Given the description of an element on the screen output the (x, y) to click on. 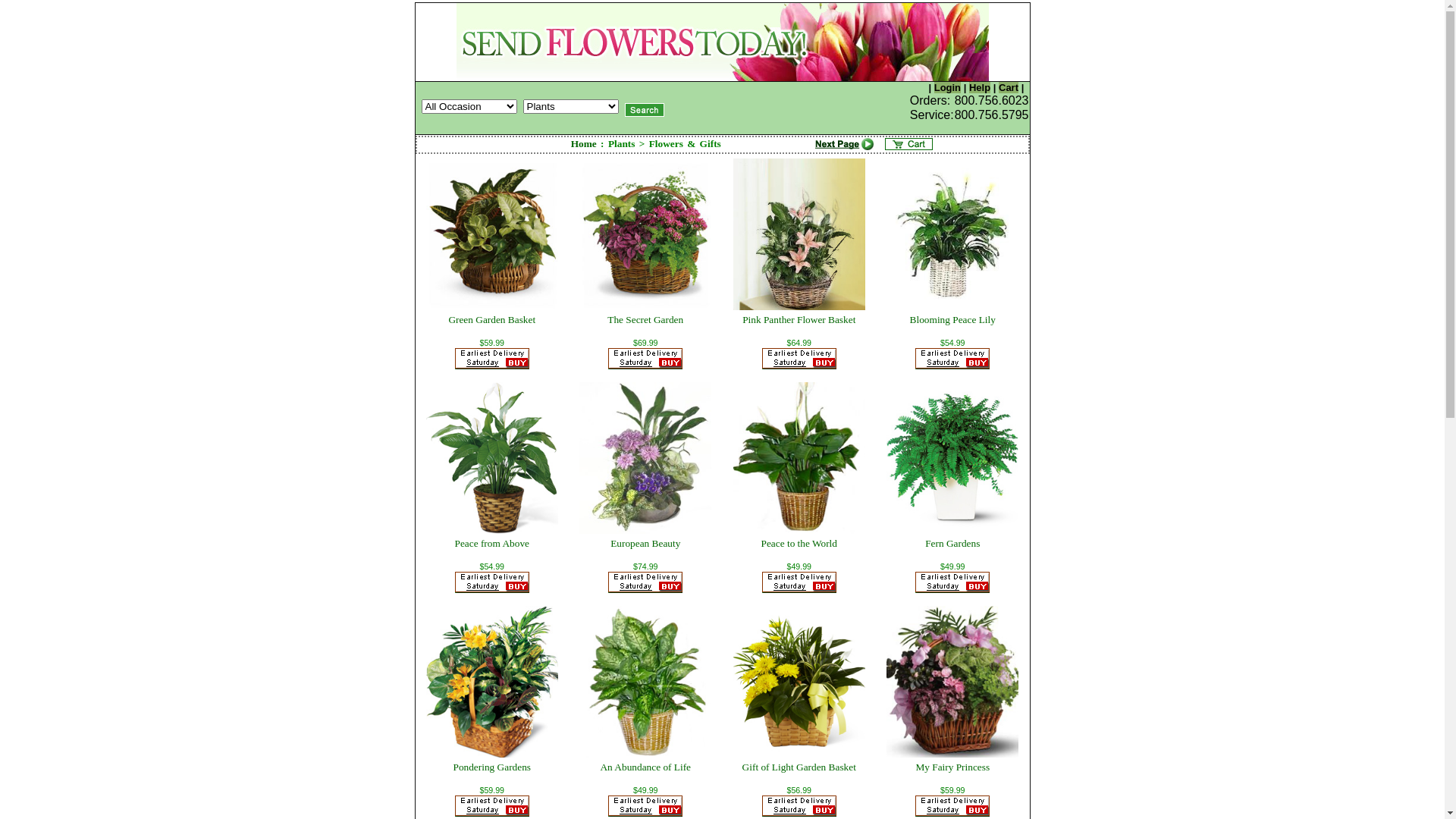
Peace to the World Element type: text (799, 543)
European Beauty Element type: text (645, 543)
Green Garden Basket Element type: text (491, 319)
Help Element type: text (979, 87)
Home Element type: text (583, 143)
Pink Panther Flower Basket Element type: text (798, 319)
Blooming Peace Lily Element type: text (952, 319)
My Fairy Princess Element type: text (952, 766)
Gift of Light Garden Basket Element type: text (799, 766)
Peace from Above Element type: text (492, 543)
An Abundance of Life Element type: text (644, 766)
The Secret Garden Element type: text (645, 319)
Login Element type: text (947, 87)
Cart Element type: text (1008, 87)
Fern Gardens Element type: text (952, 543)
Pondering Gardens Element type: text (491, 766)
